Given the description of an element on the screen output the (x, y) to click on. 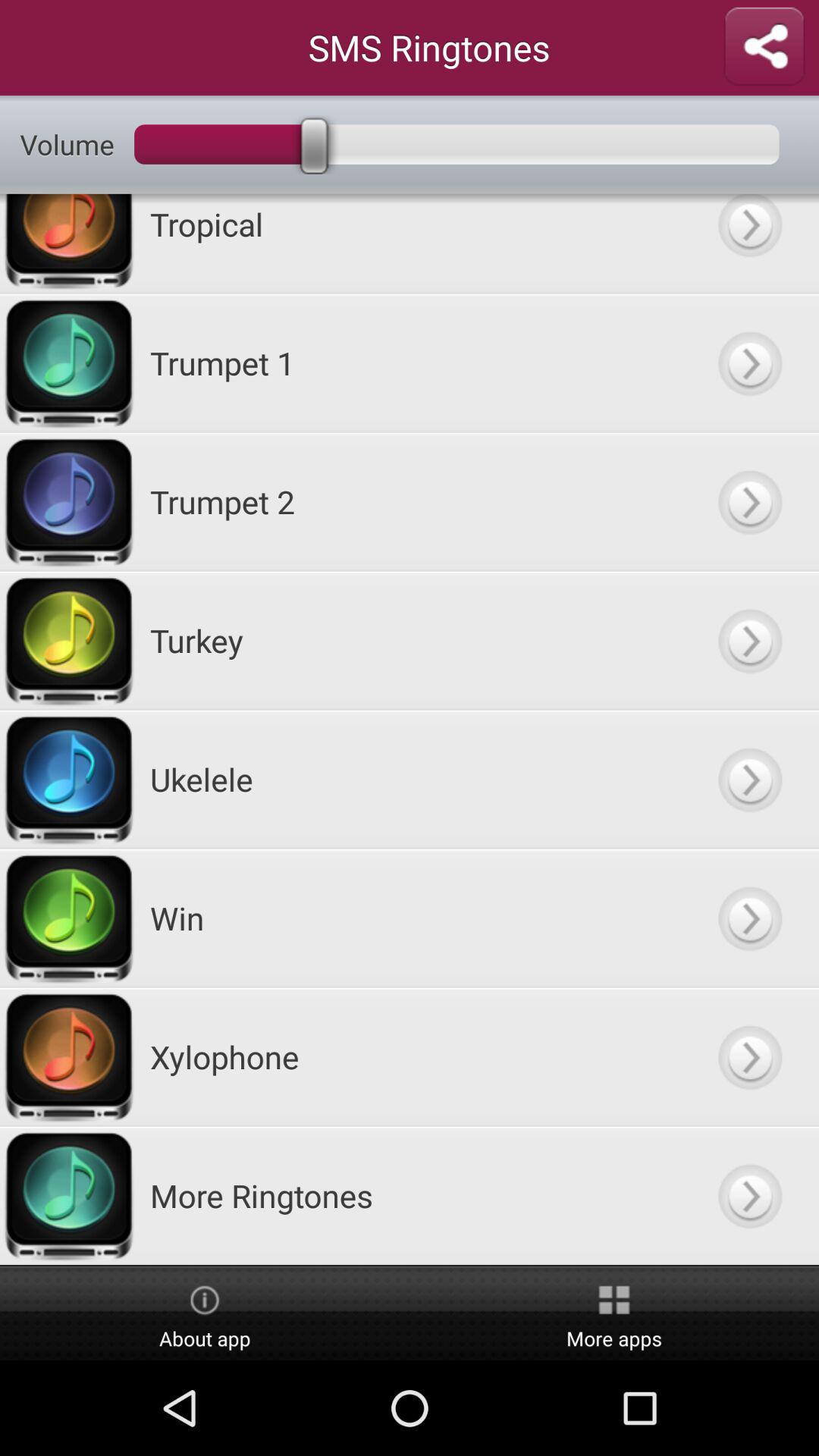
play tumpet 2 ringtone (749, 501)
